Given the description of an element on the screen output the (x, y) to click on. 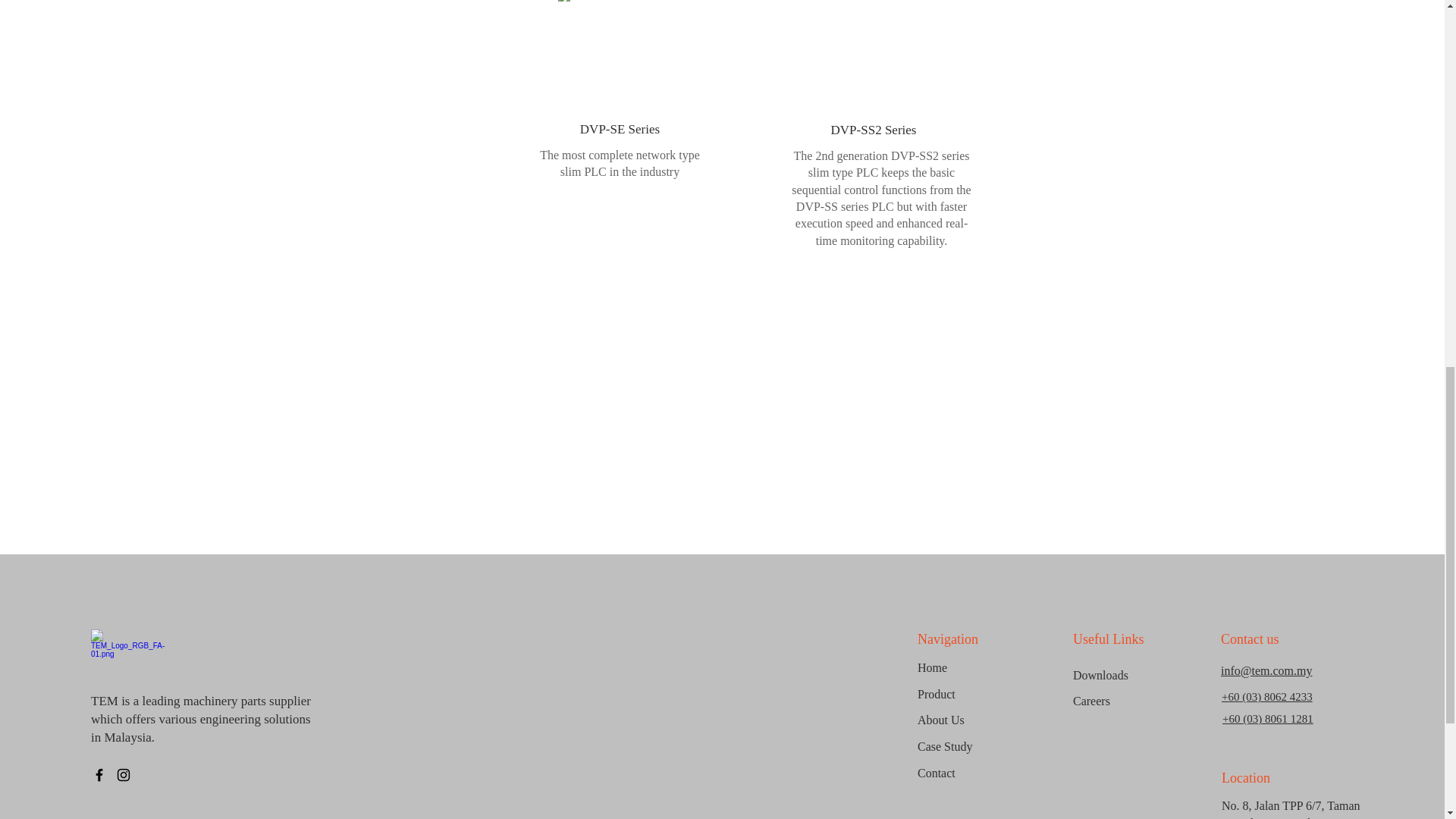
Downloads (1126, 675)
Case Study (971, 746)
Contact (971, 773)
About Us (971, 720)
Careers (1126, 701)
Product (971, 694)
Home (971, 668)
